Given the description of an element on the screen output the (x, y) to click on. 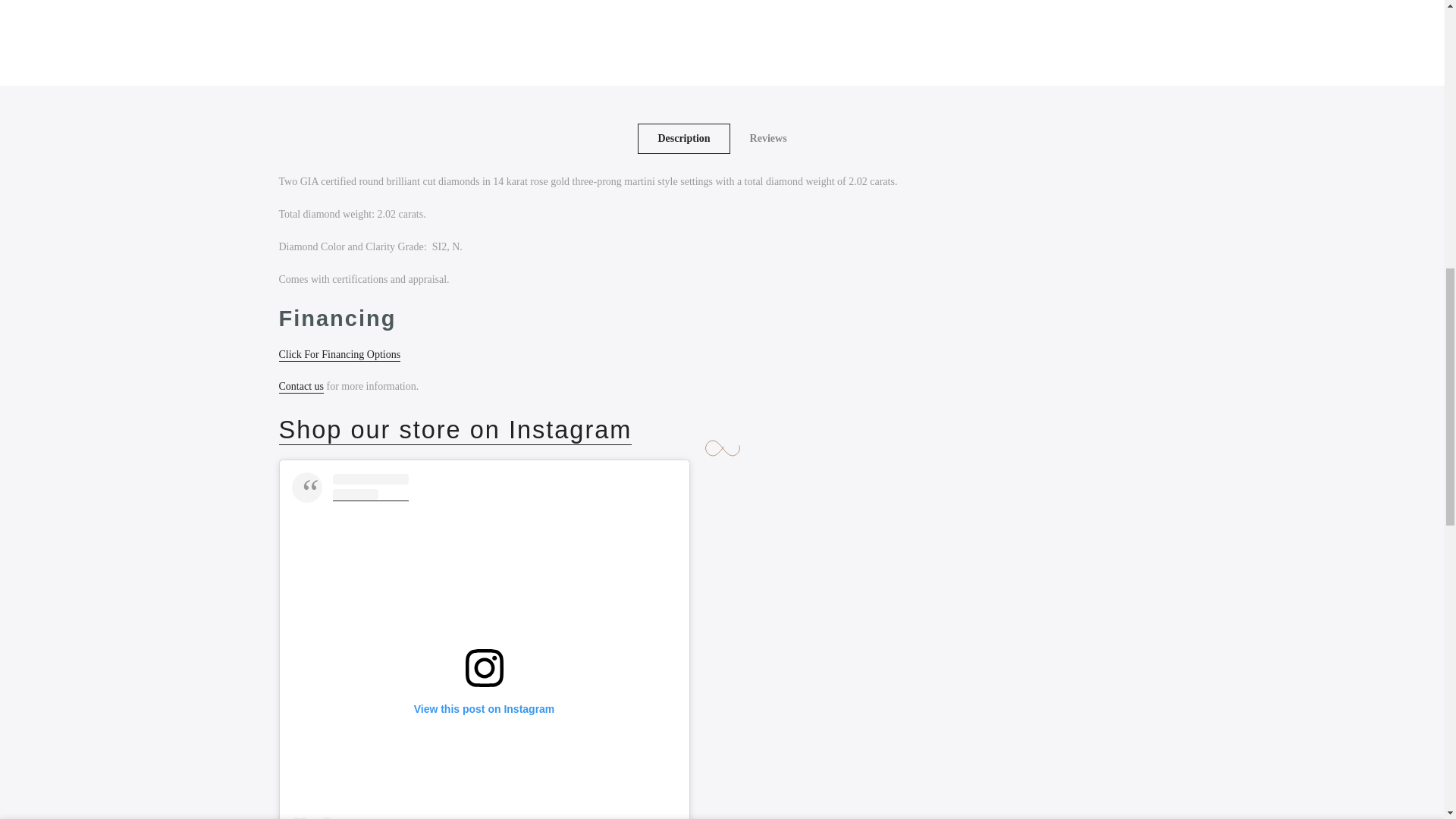
1 (1001, 35)
